Given the description of an element on the screen output the (x, y) to click on. 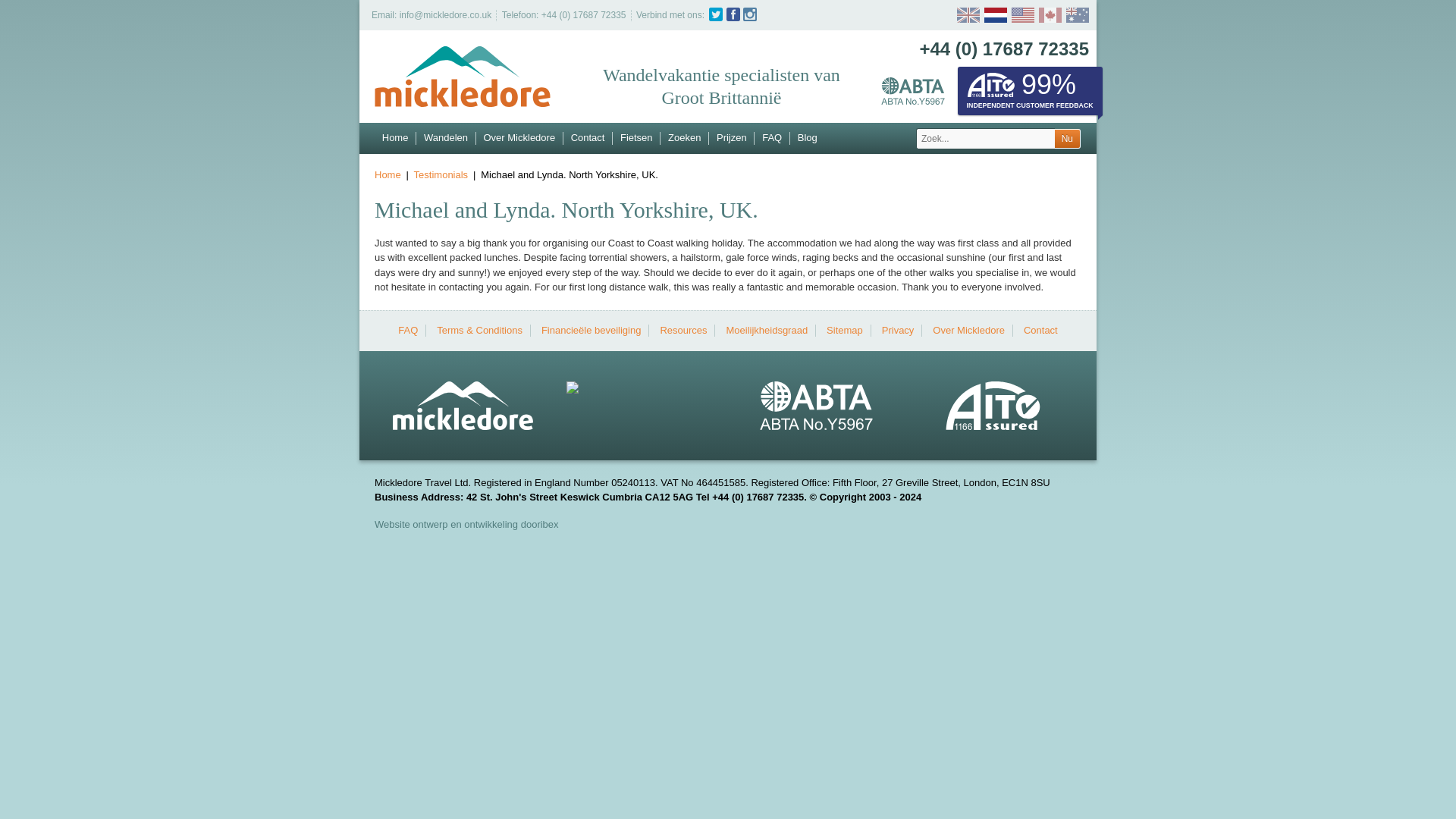
English (967, 14)
Home (395, 137)
United States (1020, 14)
Canada (1047, 14)
Nederlands (993, 14)
Australia (1075, 14)
Wandelen (446, 137)
